Given the description of an element on the screen output the (x, y) to click on. 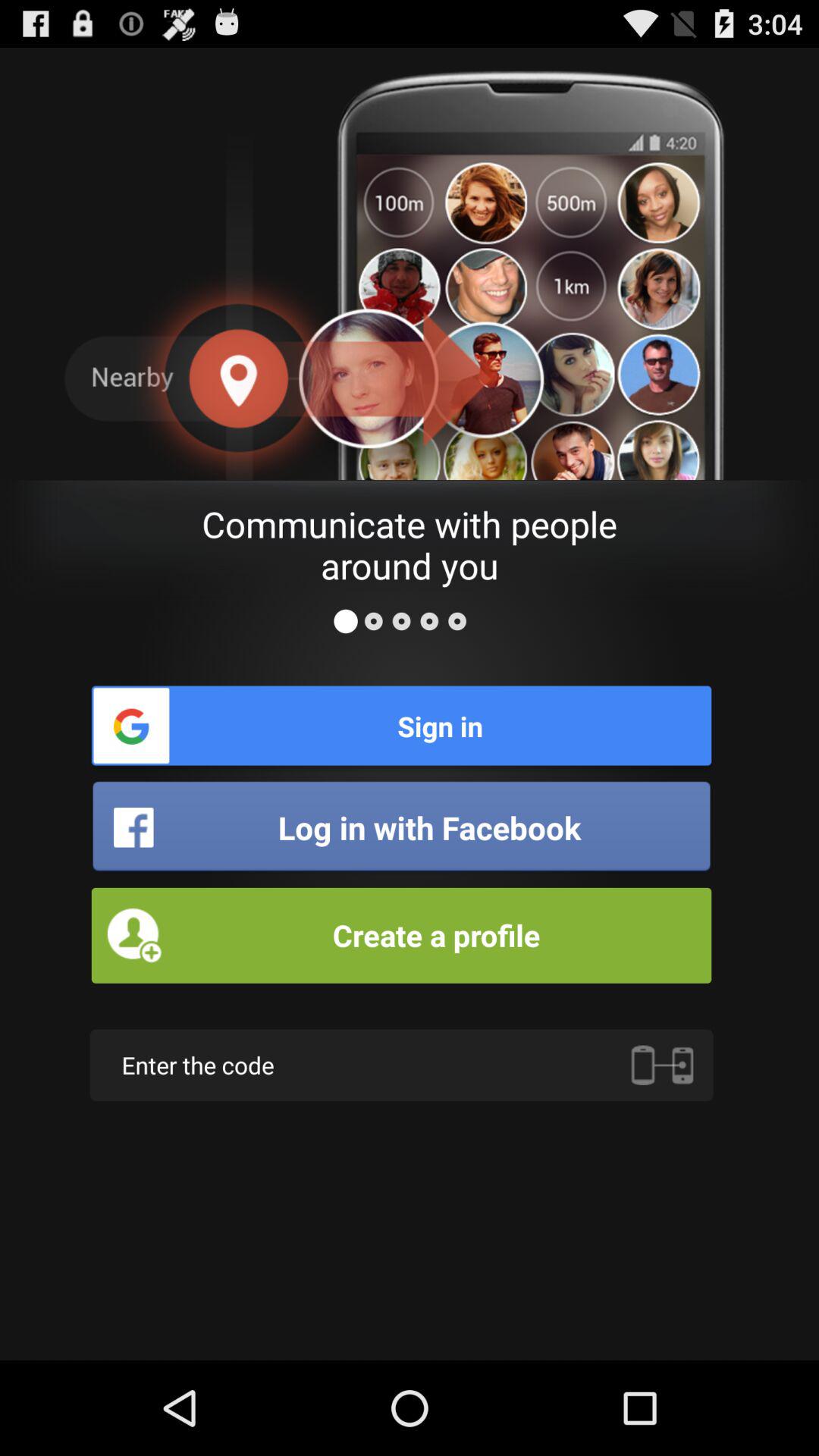
scroll until the create a profile item (401, 935)
